Given the description of an element on the screen output the (x, y) to click on. 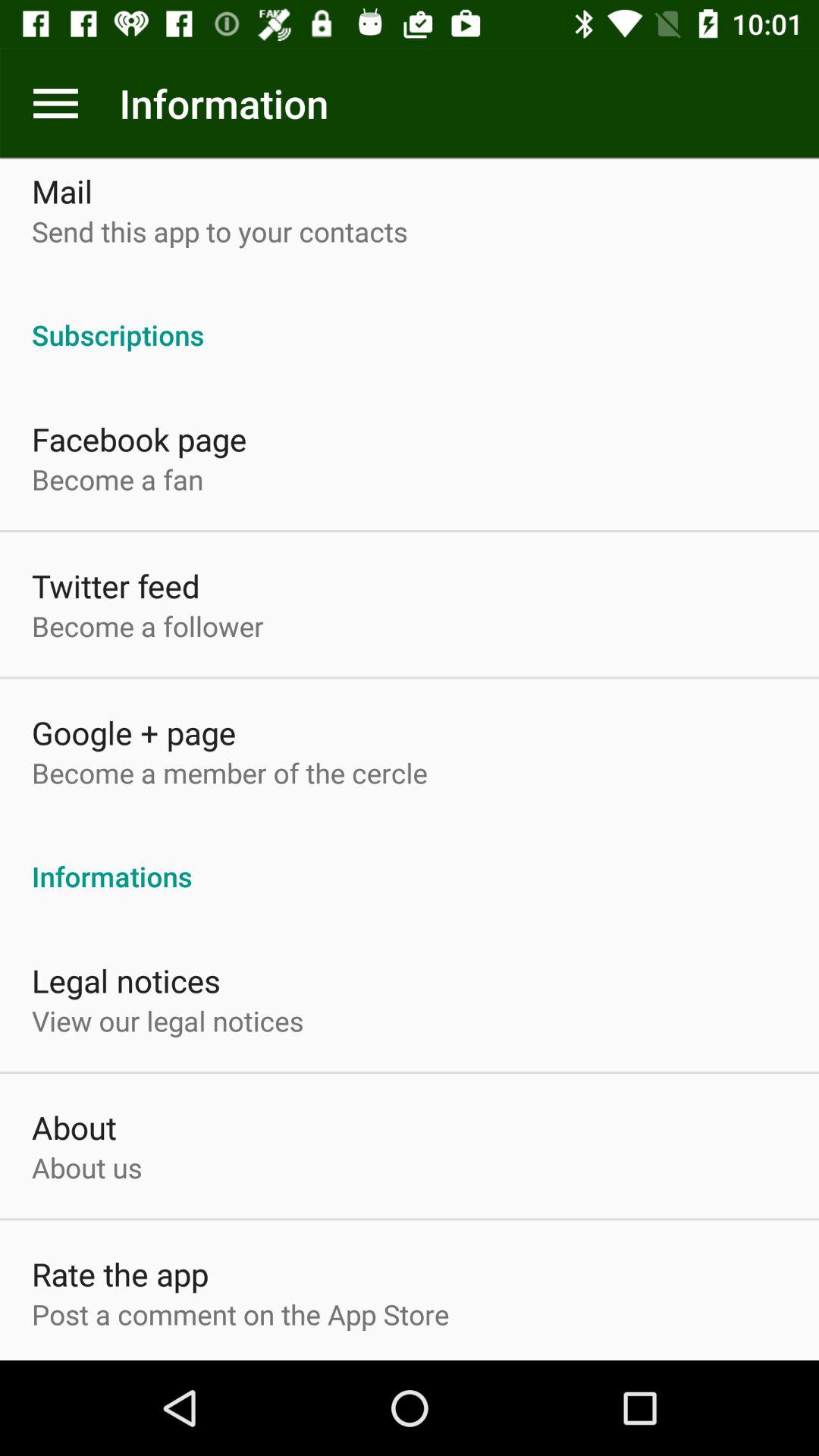
tap the item below become a member icon (409, 860)
